Given the description of an element on the screen output the (x, y) to click on. 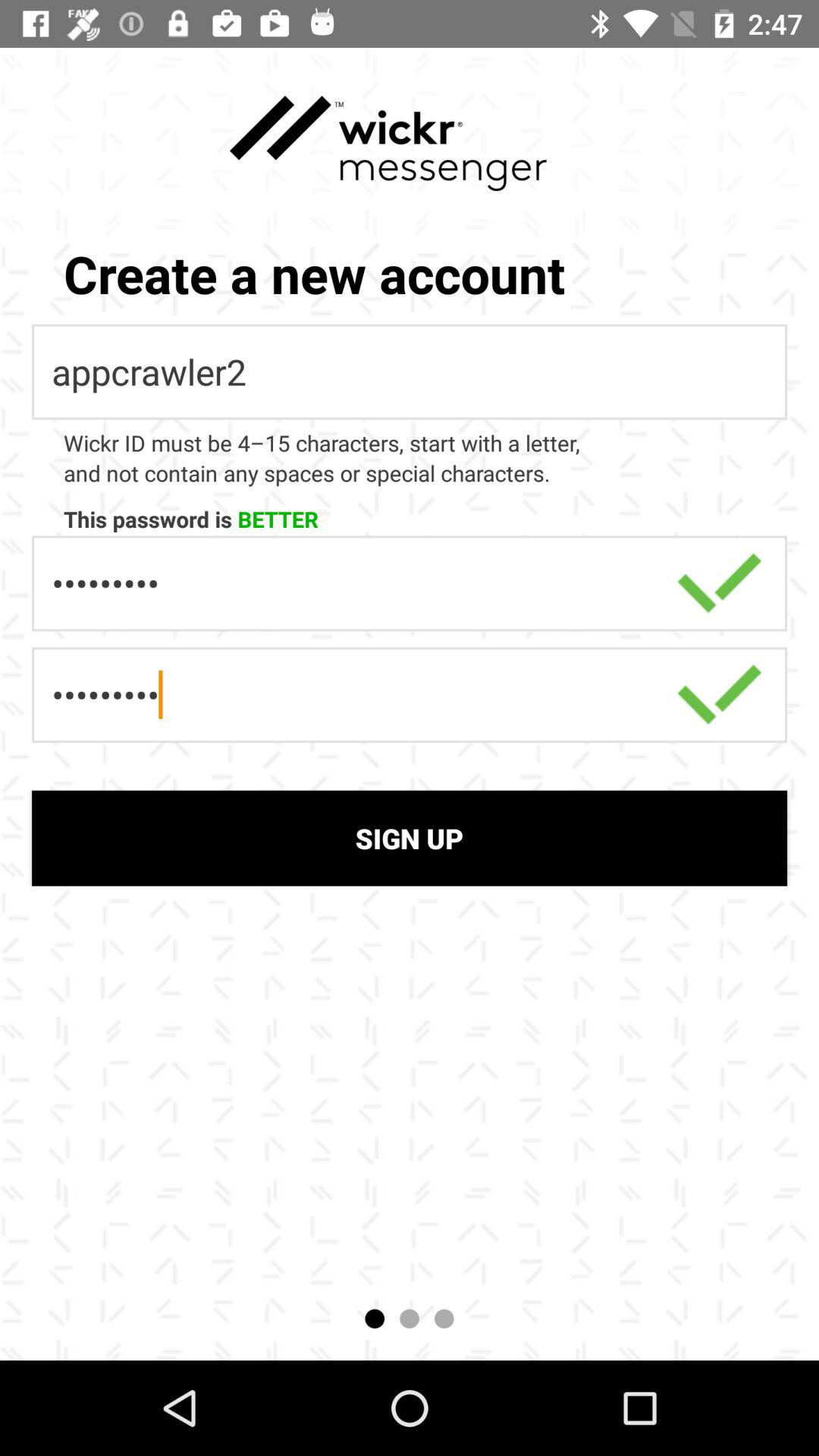
swipe until the appcrawler2 icon (409, 371)
